Given the description of an element on the screen output the (x, y) to click on. 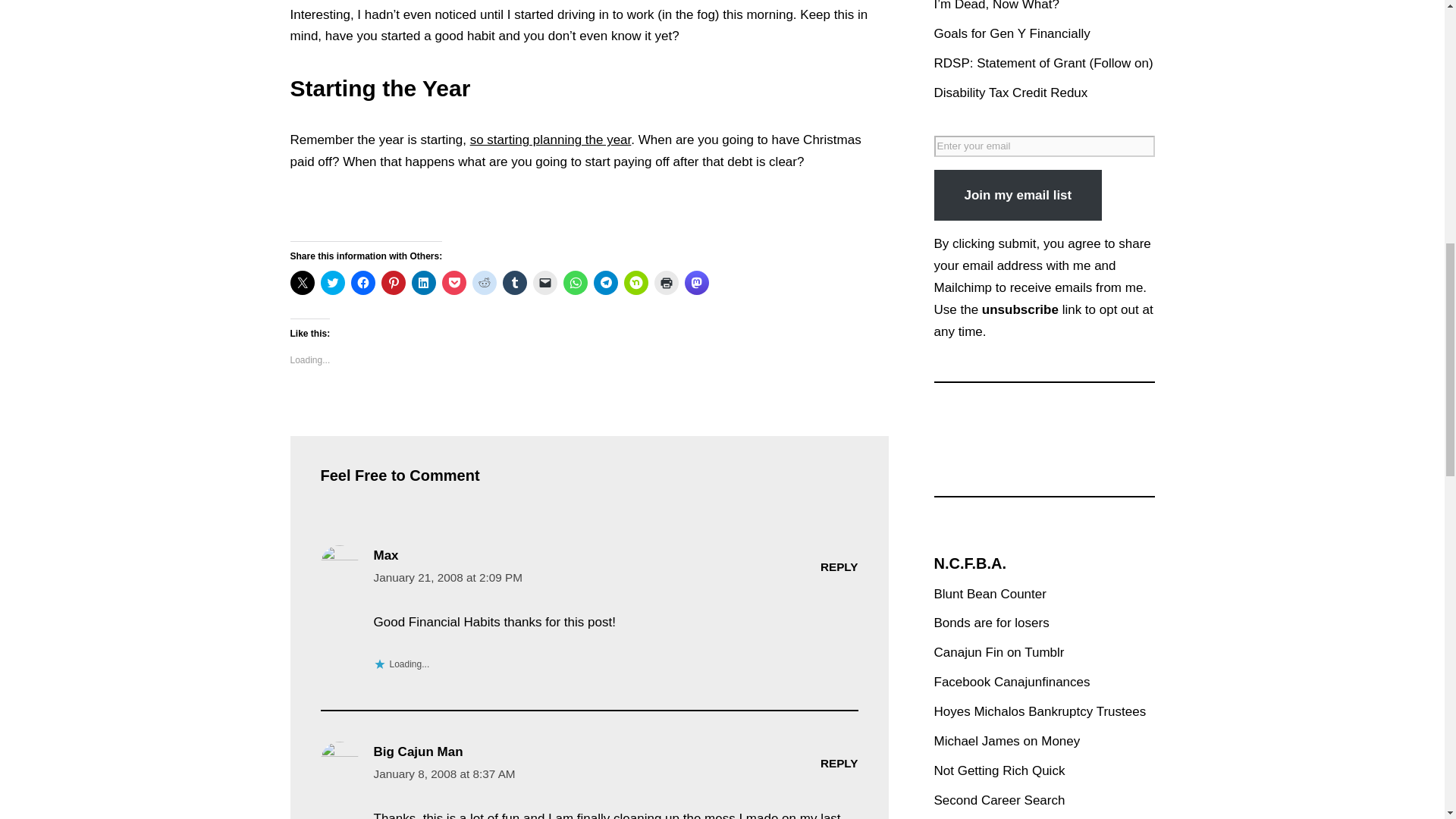
Click to share on X (301, 282)
Click to share on LinkedIn (422, 282)
so starting planning the year (550, 139)
Click to share on Pocket (453, 282)
Click to share on Twitter (331, 282)
Click to share on Pinterest (392, 282)
Click to share on Facebook (362, 282)
